Given the description of an element on the screen output the (x, y) to click on. 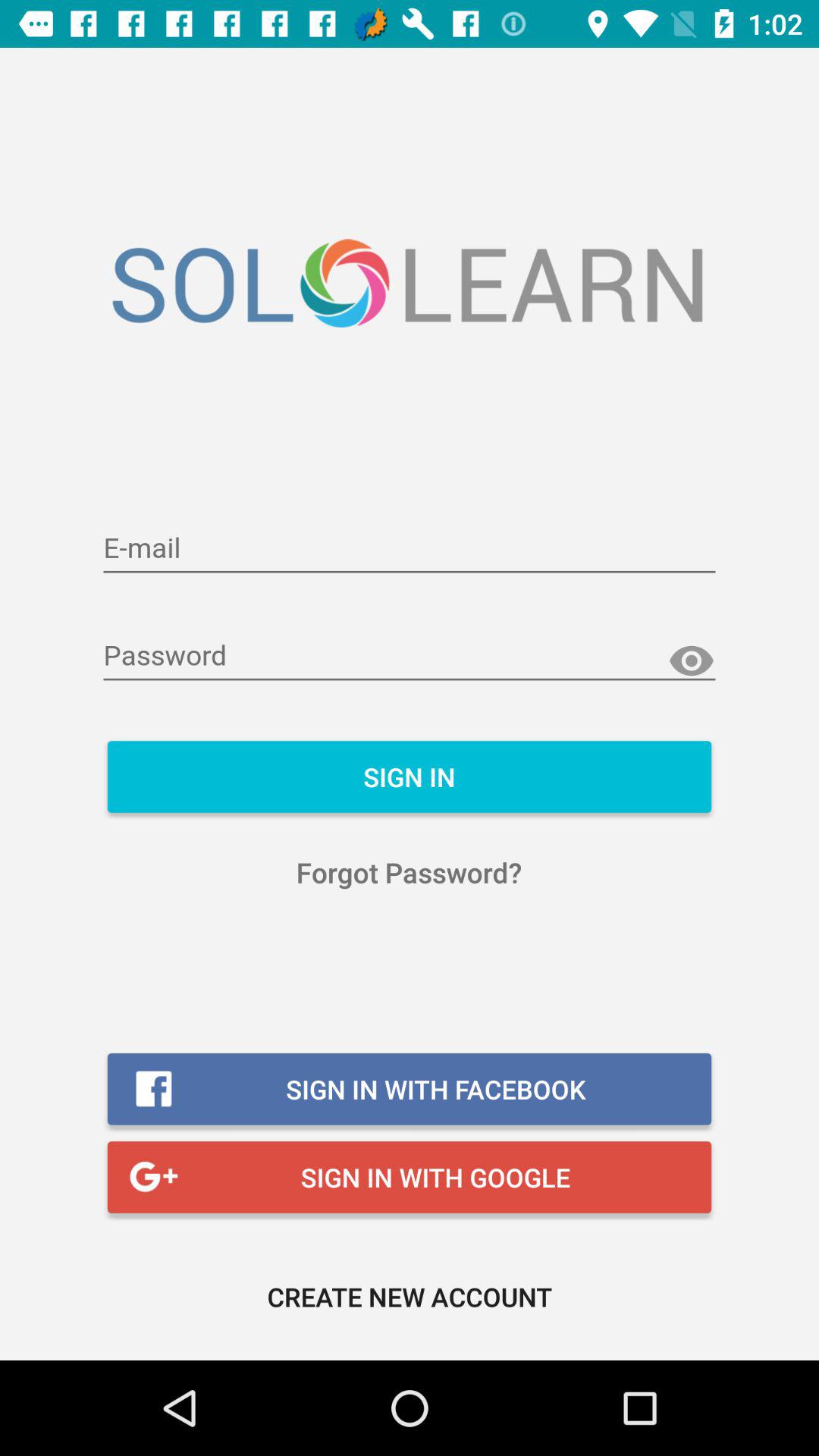
flip until the create new account item (409, 1296)
